Given the description of an element on the screen output the (x, y) to click on. 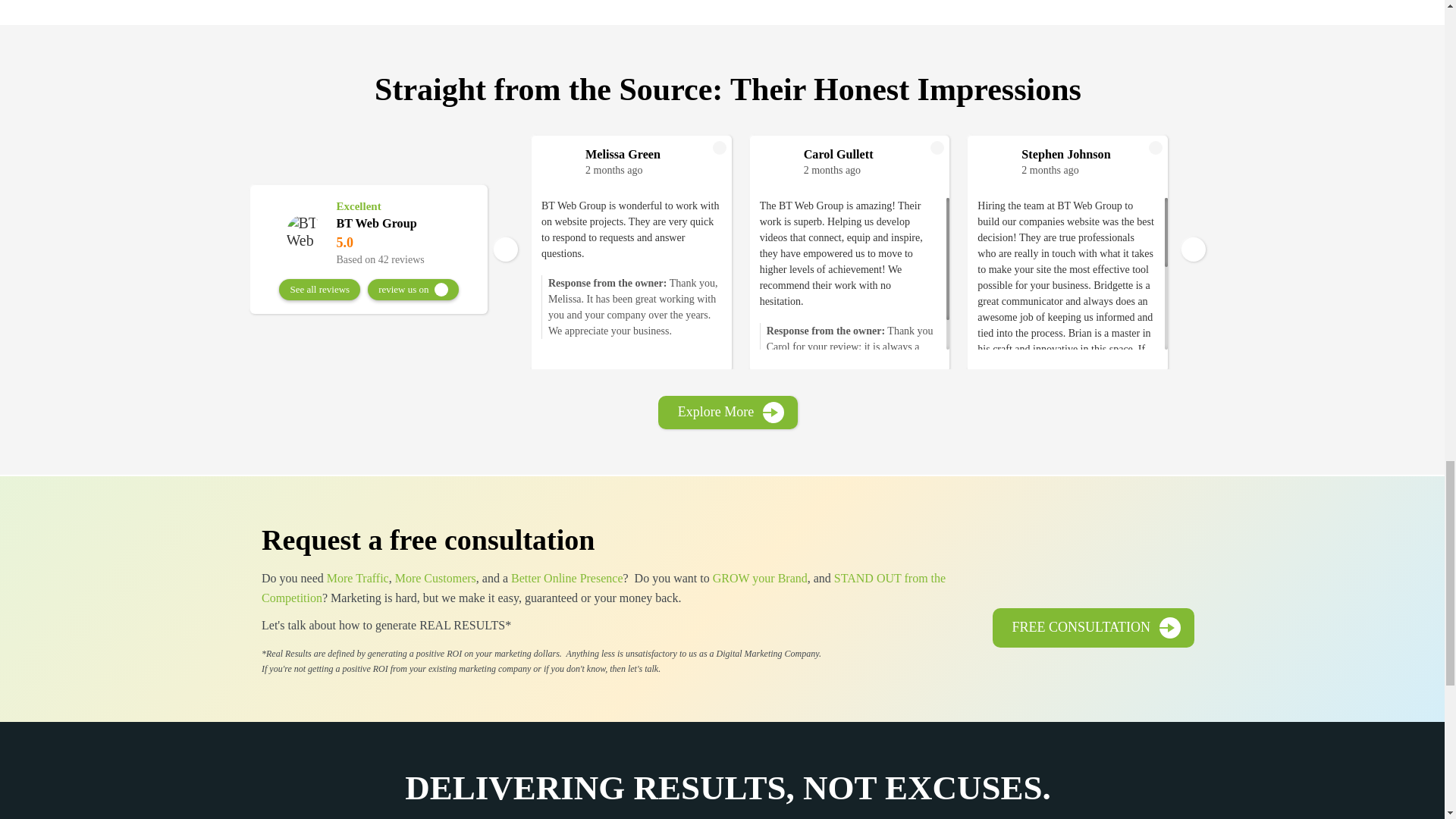
BT Web Group (304, 232)
Response from the owner: Thank you, Tyler! (1285, 259)
Melissa Green (652, 153)
Tyler Swope (1307, 153)
Stephen Johnson (1089, 153)
Carol Gullett (871, 153)
